Given the description of an element on the screen output the (x, y) to click on. 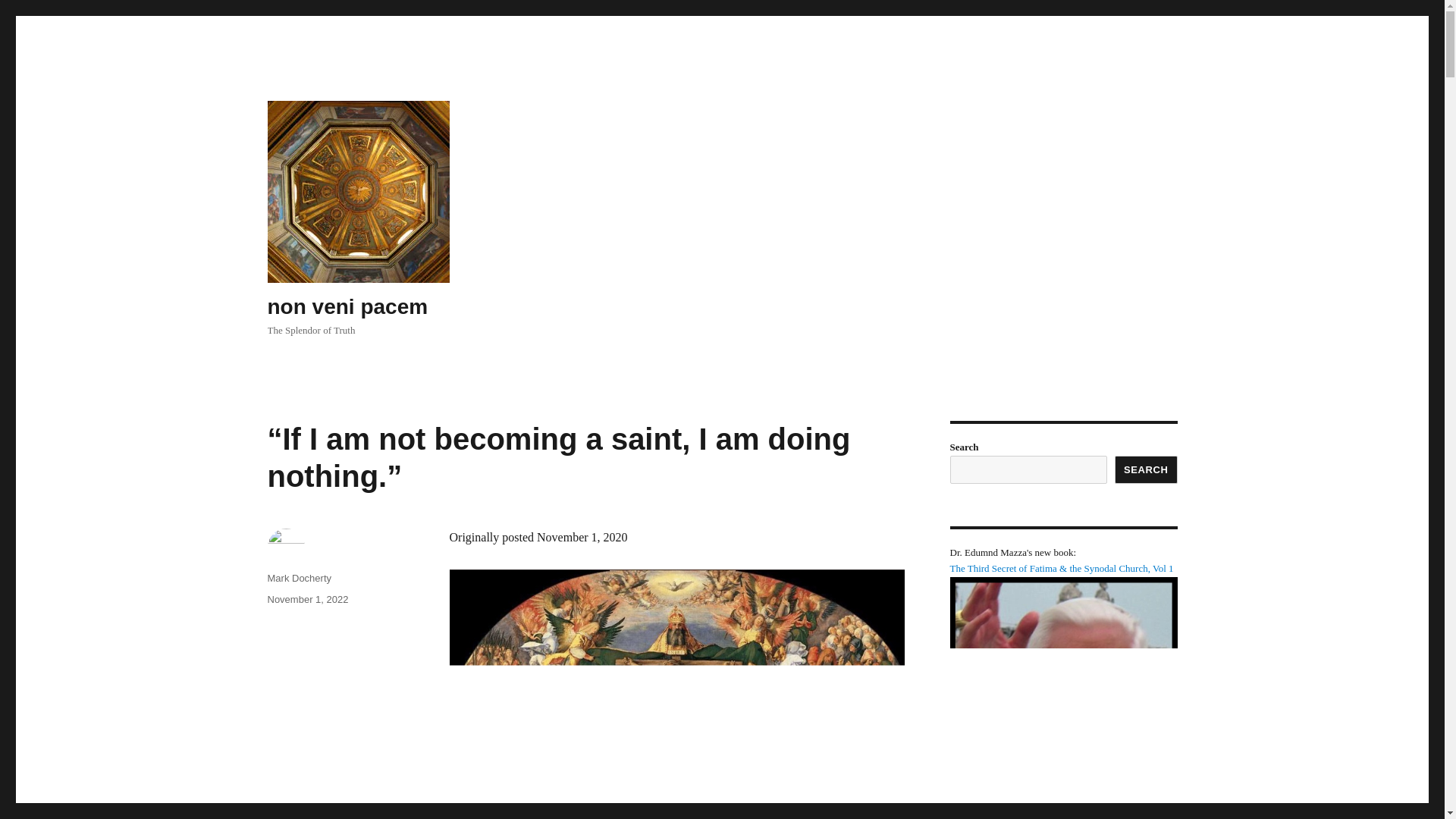
Mark Docherty (298, 577)
non veni pacem (347, 306)
November 1, 2022 (306, 599)
